Given the description of an element on the screen output the (x, y) to click on. 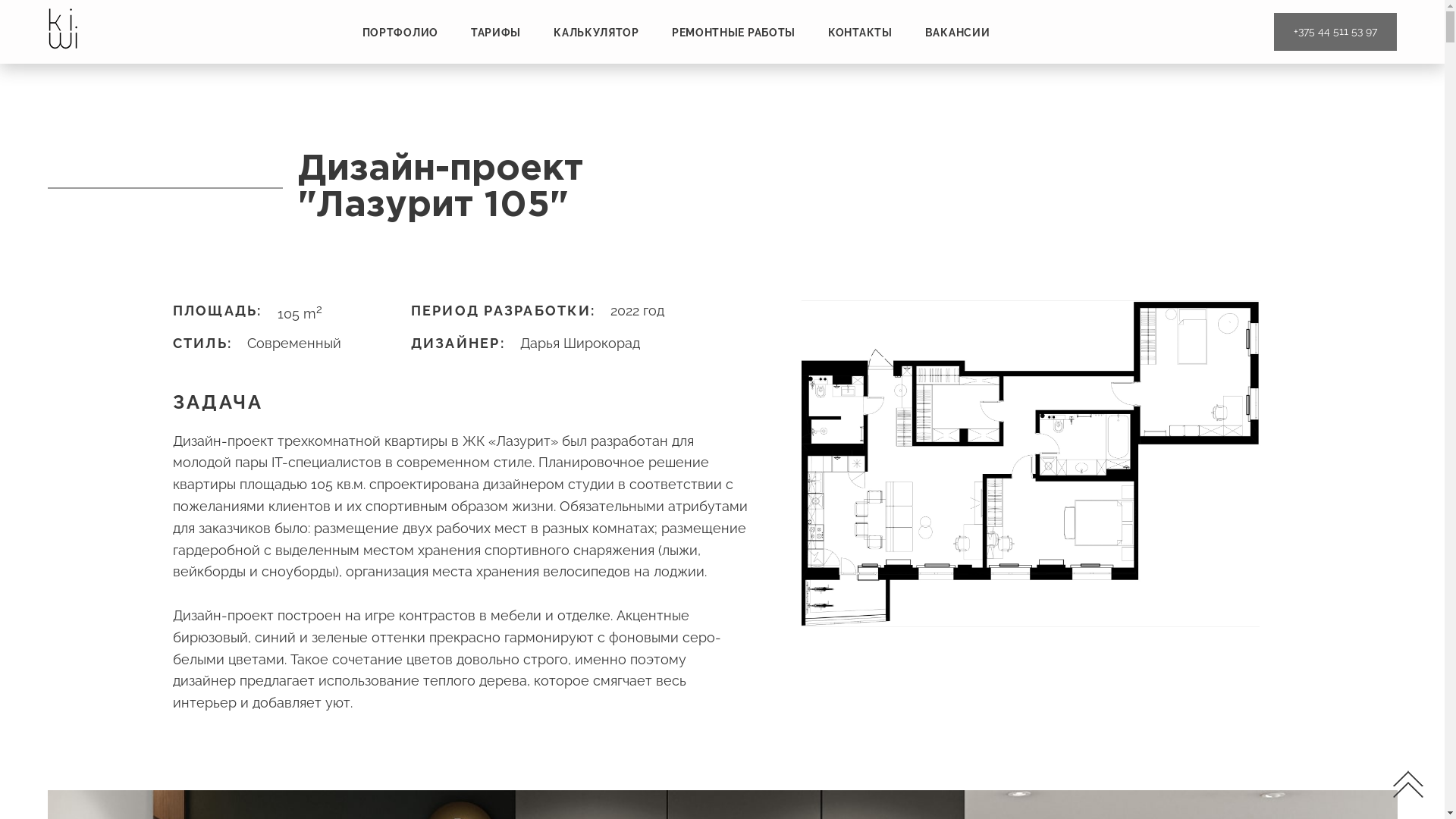
+375 44 511 53 97 Element type: text (1335, 31)
